Given the description of an element on the screen output the (x, y) to click on. 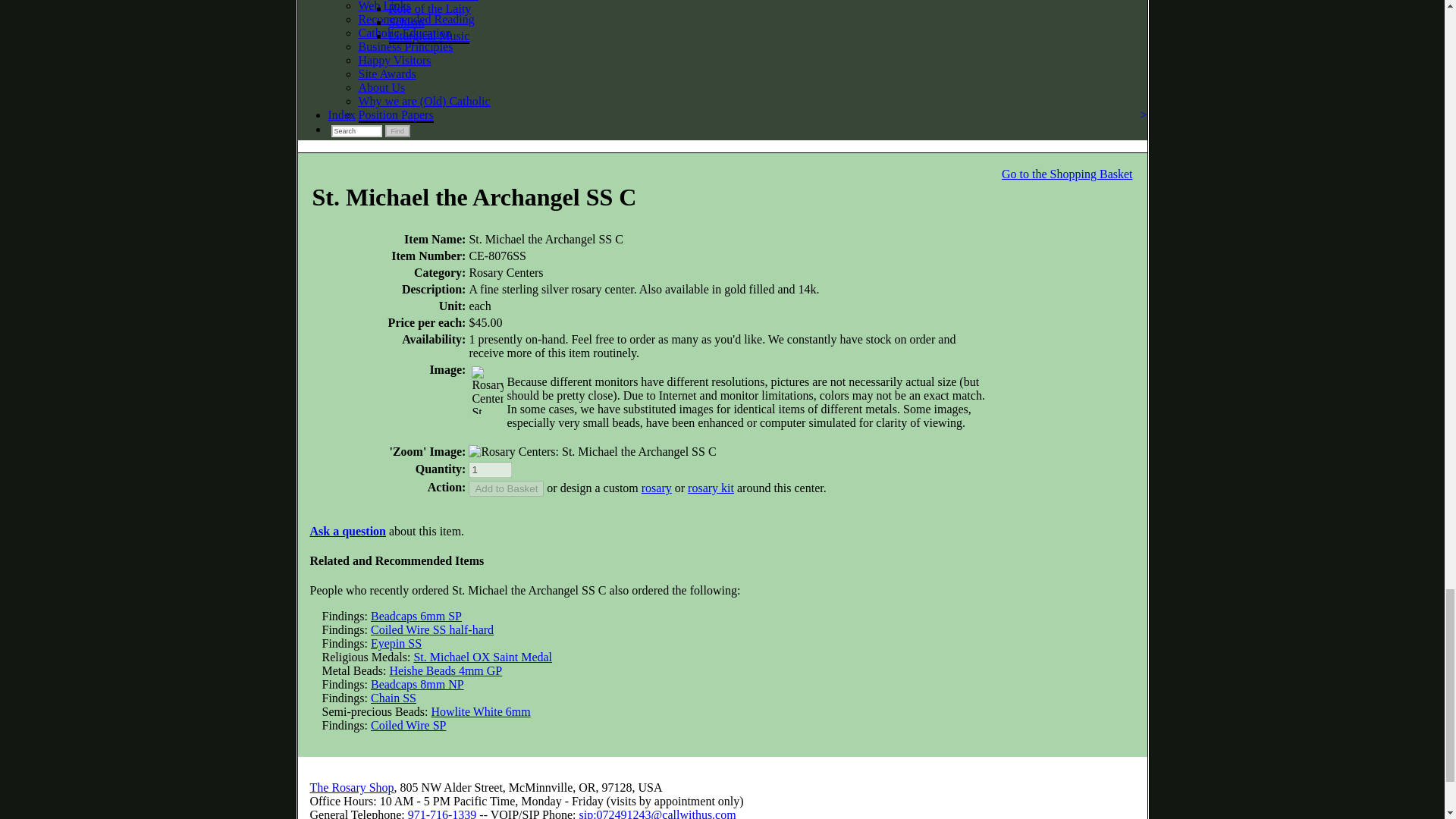
1 (490, 469)
Add to Basket (505, 488)
Search Inventory (355, 131)
Find (397, 131)
Search (355, 131)
